Given the description of an element on the screen output the (x, y) to click on. 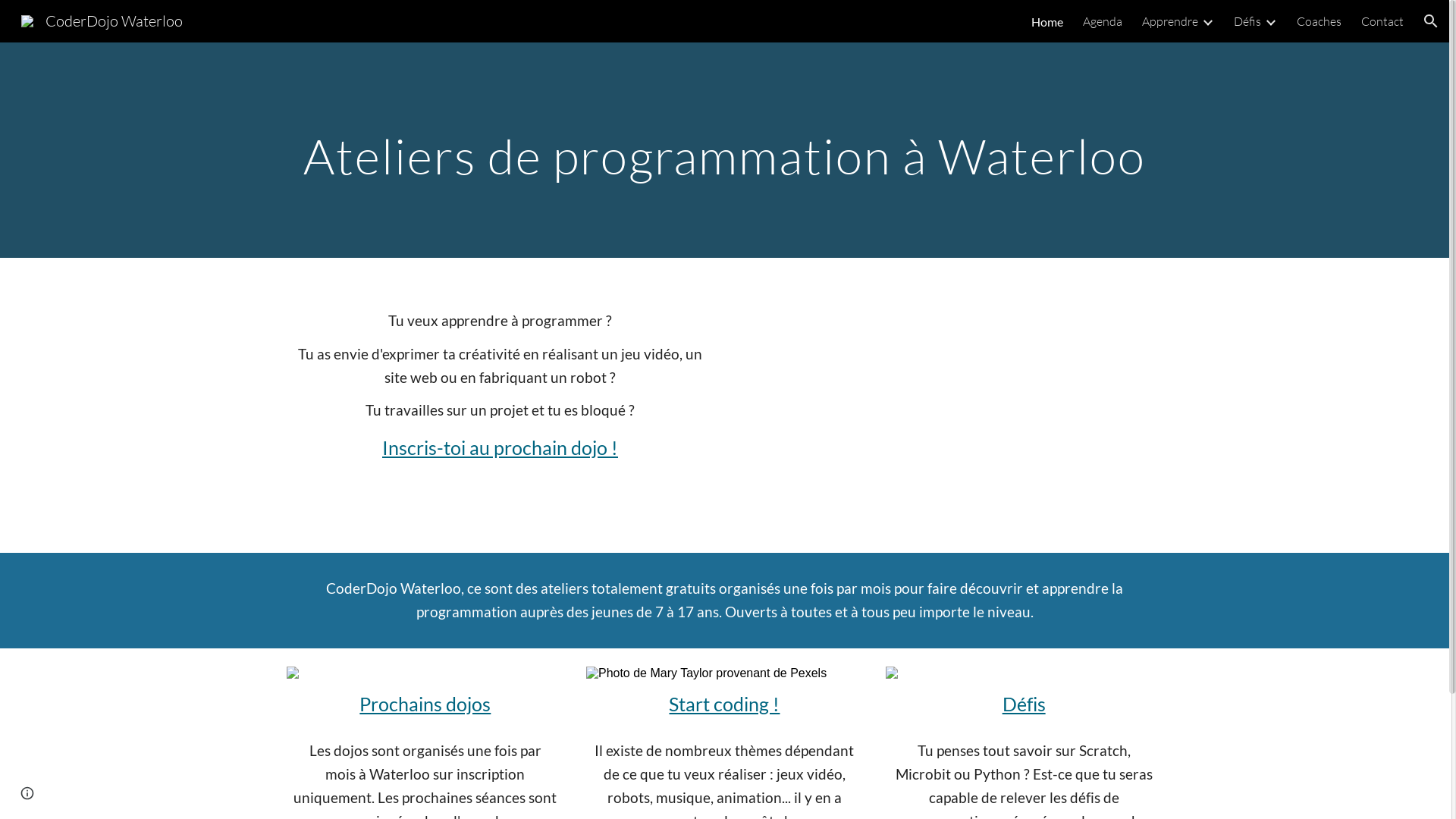
CoderDojo Waterloo Element type: text (101, 18)
Prochains dojos Element type: text (424, 703)
Apprendre Element type: text (1170, 20)
Expand/Collapse Element type: hover (1207, 20)
Contact Element type: text (1382, 20)
Inscris-toi au prochain dojo ! Element type: text (500, 447)
Start coding ! Element type: text (723, 703)
Home Element type: text (1047, 20)
Expand/Collapse Element type: hover (1270, 20)
Coaches Element type: text (1318, 20)
Agenda Element type: text (1102, 20)
